Given the description of an element on the screen output the (x, y) to click on. 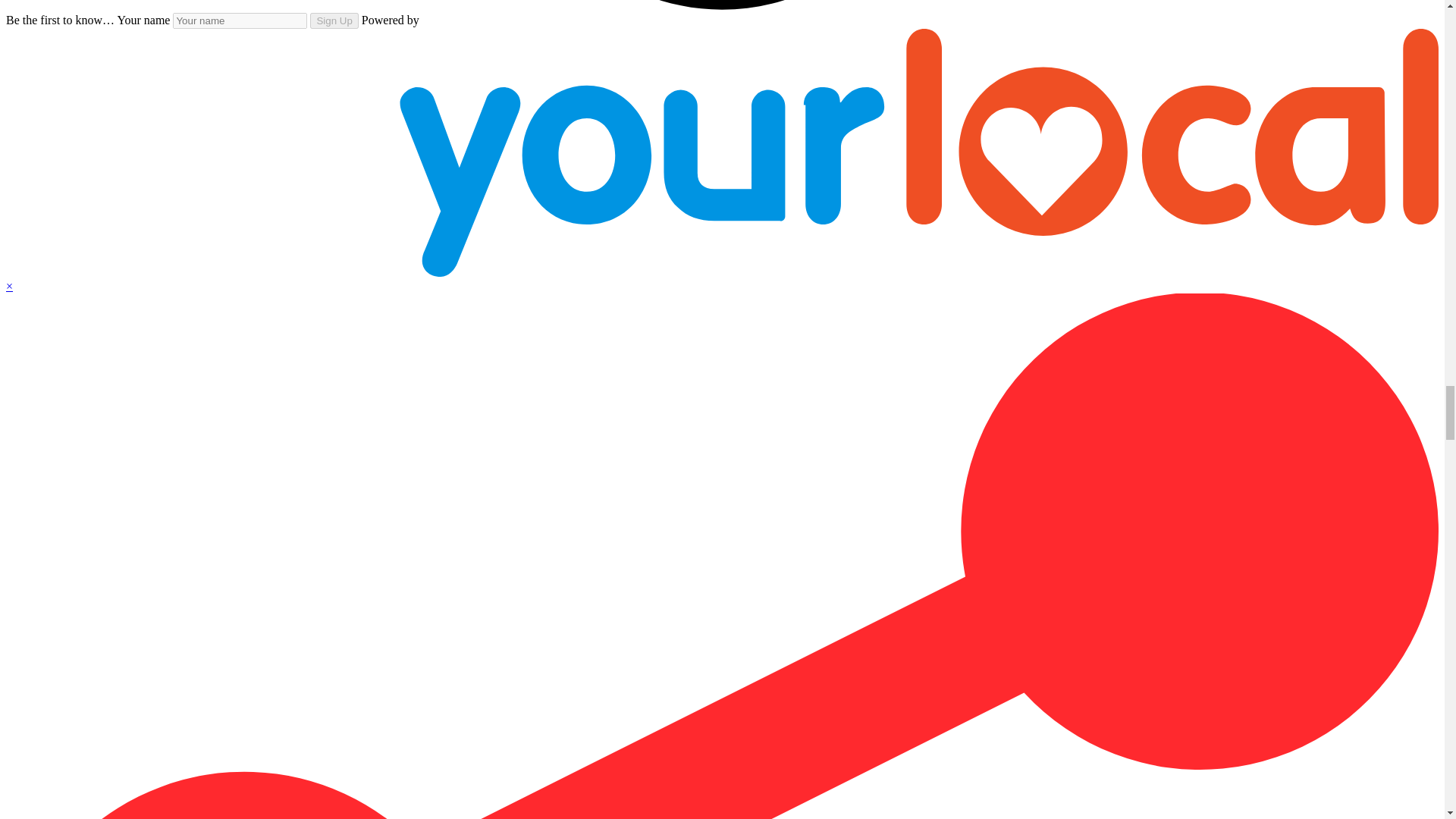
Sign Up (334, 20)
